Given the description of an element on the screen output the (x, y) to click on. 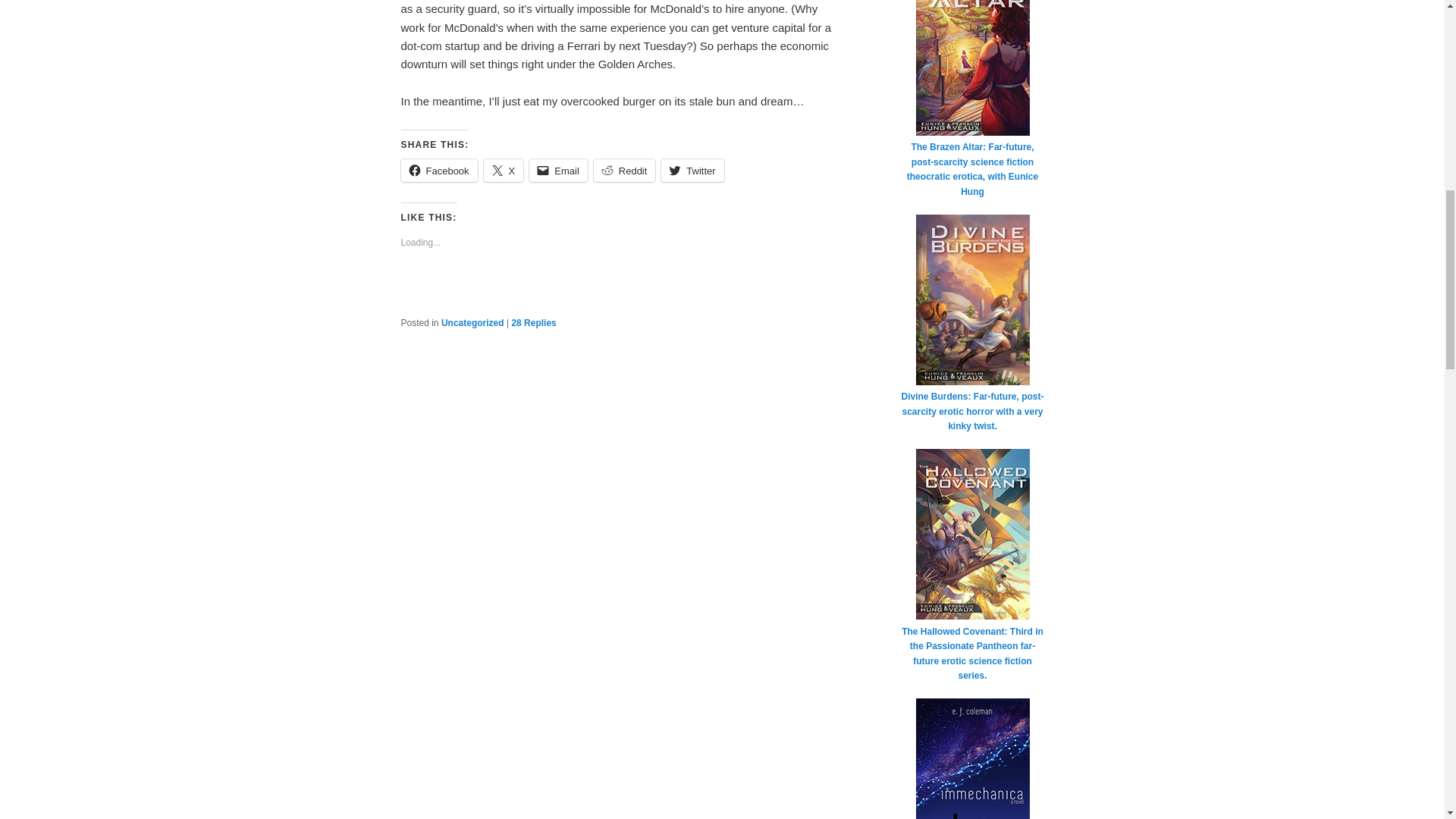
Click to email a link to a friend (558, 169)
Click to share on Twitter (692, 169)
X (503, 169)
Twitter (692, 169)
Email (558, 169)
Facebook (438, 169)
28 Replies (533, 322)
Click to share on X (503, 169)
Like or Reblog (621, 295)
Click to share on Facebook (438, 169)
Uncategorized (472, 322)
Click to share on Reddit (625, 169)
